Given the description of an element on the screen output the (x, y) to click on. 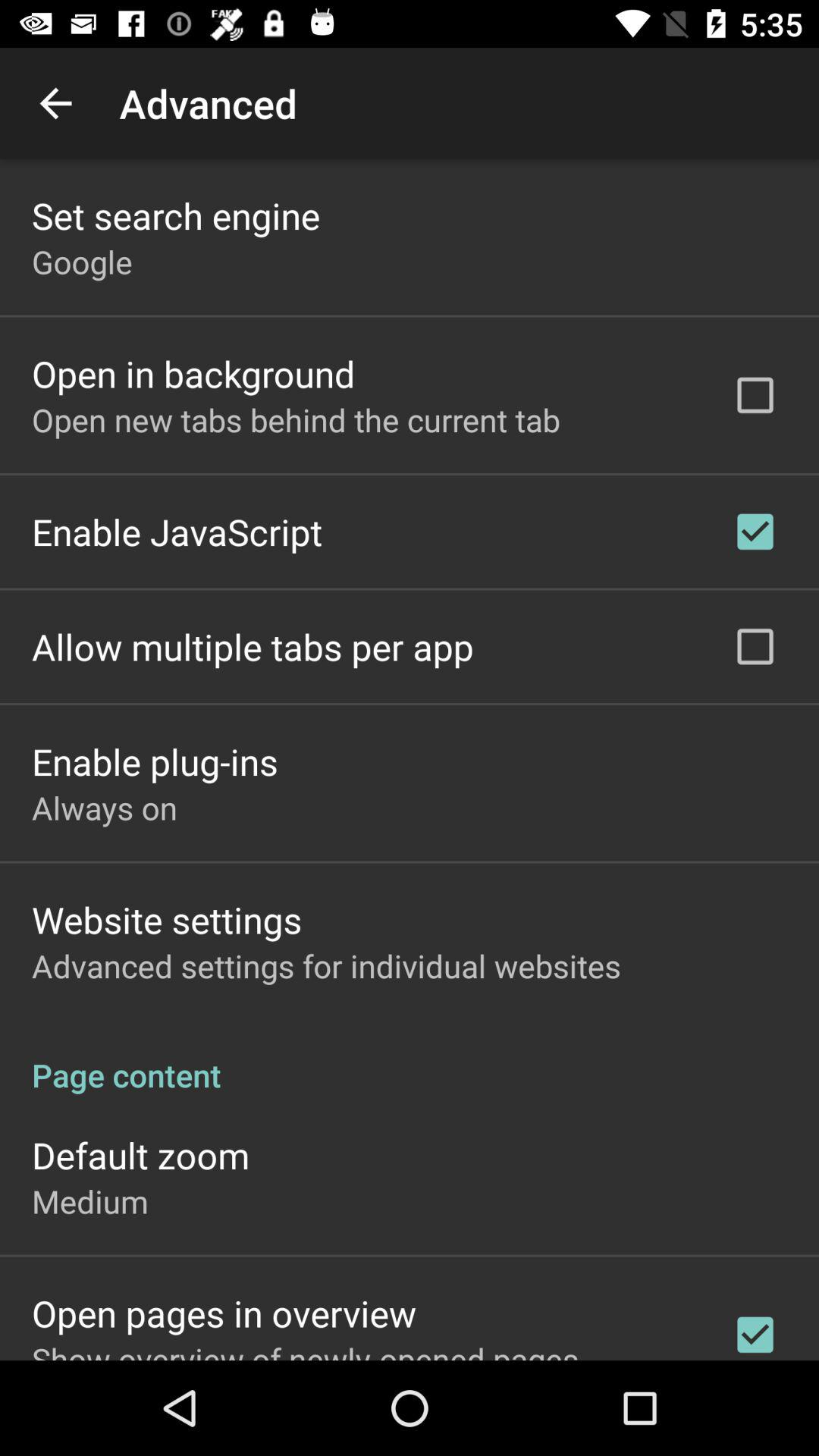
swipe until the website settings app (166, 919)
